Given the description of an element on the screen output the (x, y) to click on. 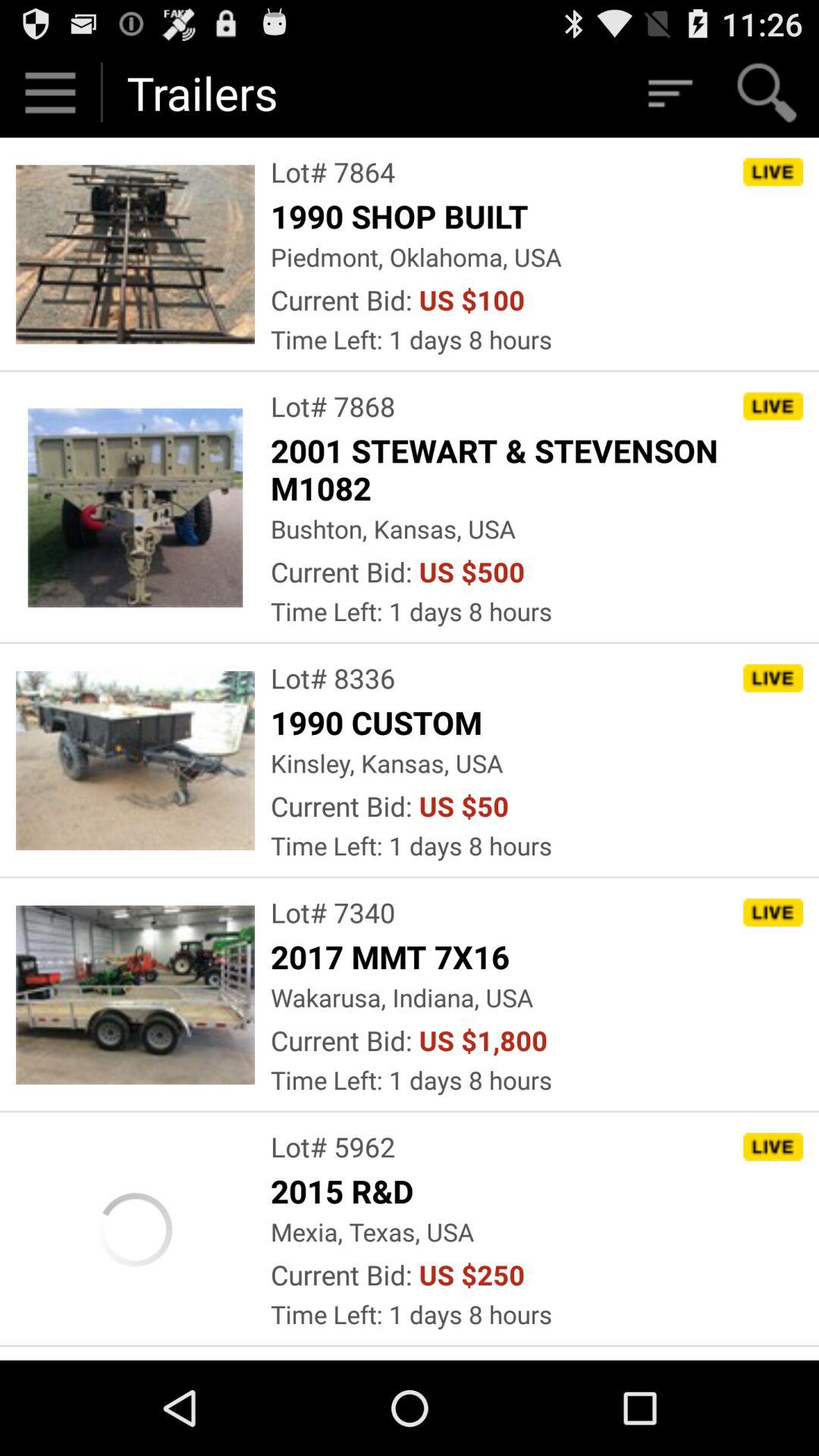
jump until the lot# 8336 item (332, 677)
